Given the description of an element on the screen output the (x, y) to click on. 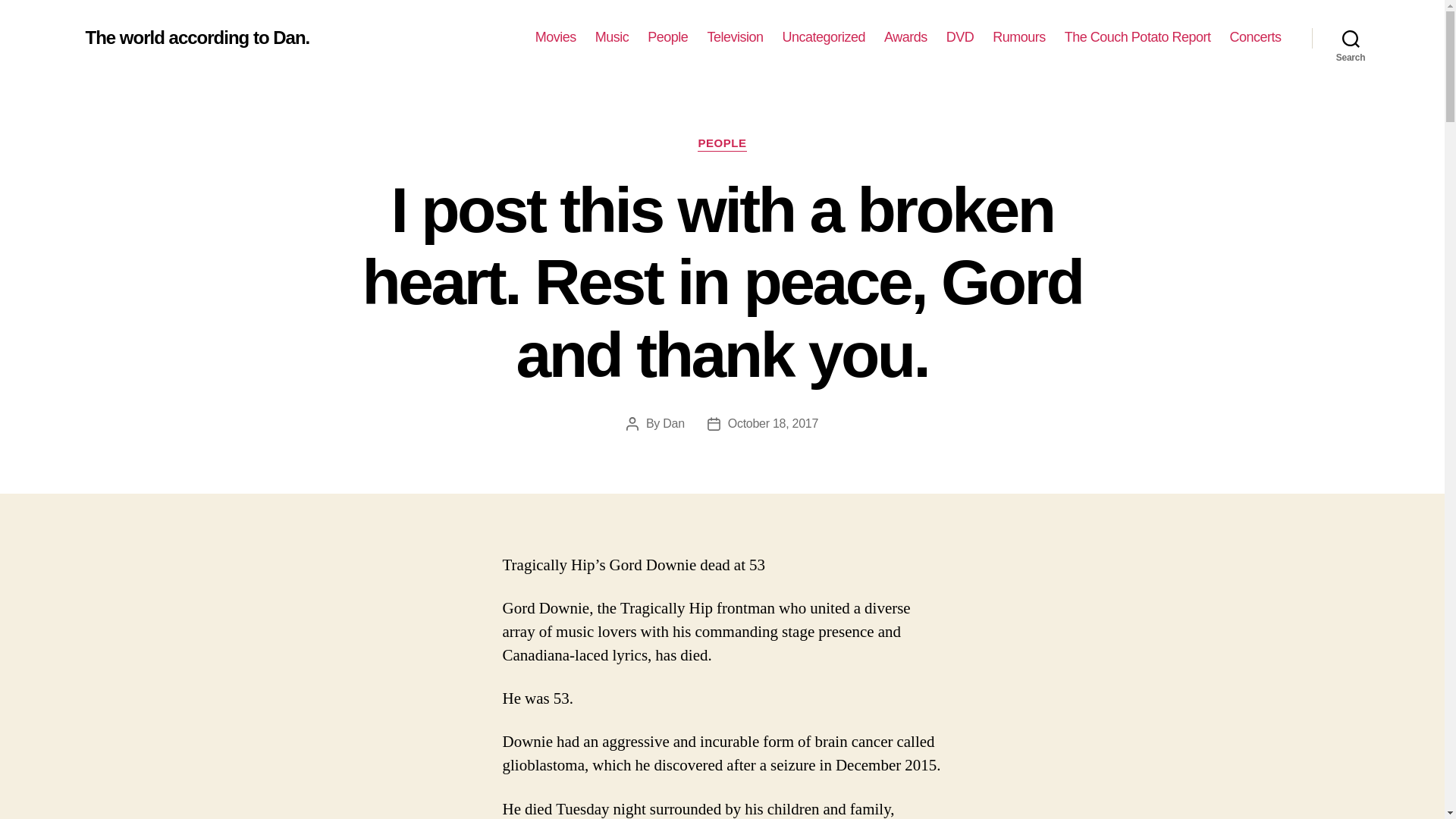
DVD (960, 37)
Music (611, 37)
The world according to Dan. (196, 37)
Rumours (1018, 37)
PEOPLE (721, 143)
Movies (555, 37)
Television (734, 37)
People (667, 37)
Uncategorized (822, 37)
Concerts (1254, 37)
